Given the description of an element on the screen output the (x, y) to click on. 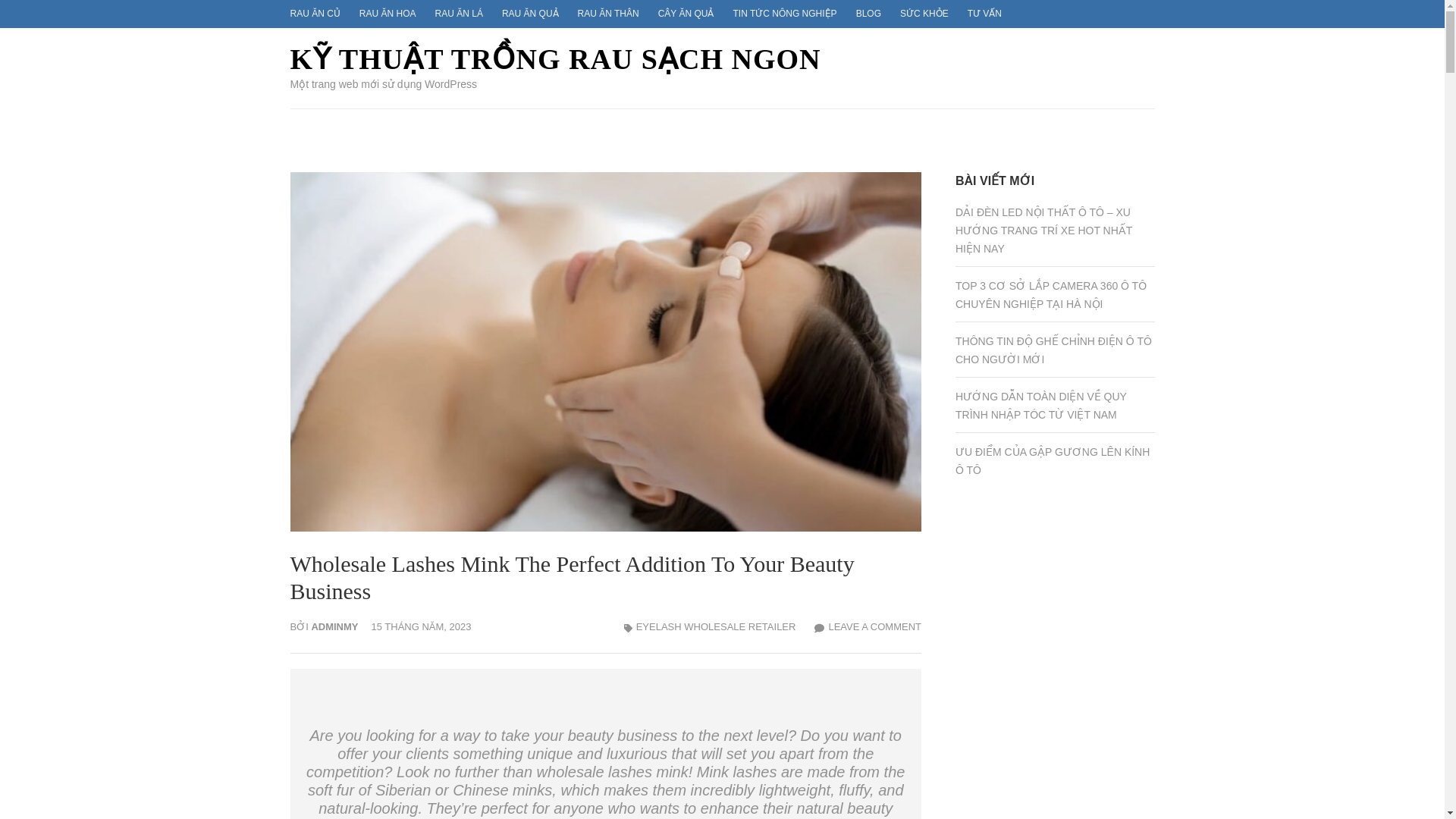
EYELASH WHOLESALE RETAILER (716, 626)
BLOG (868, 13)
ADMINMY (334, 626)
